Given the description of an element on the screen output the (x, y) to click on. 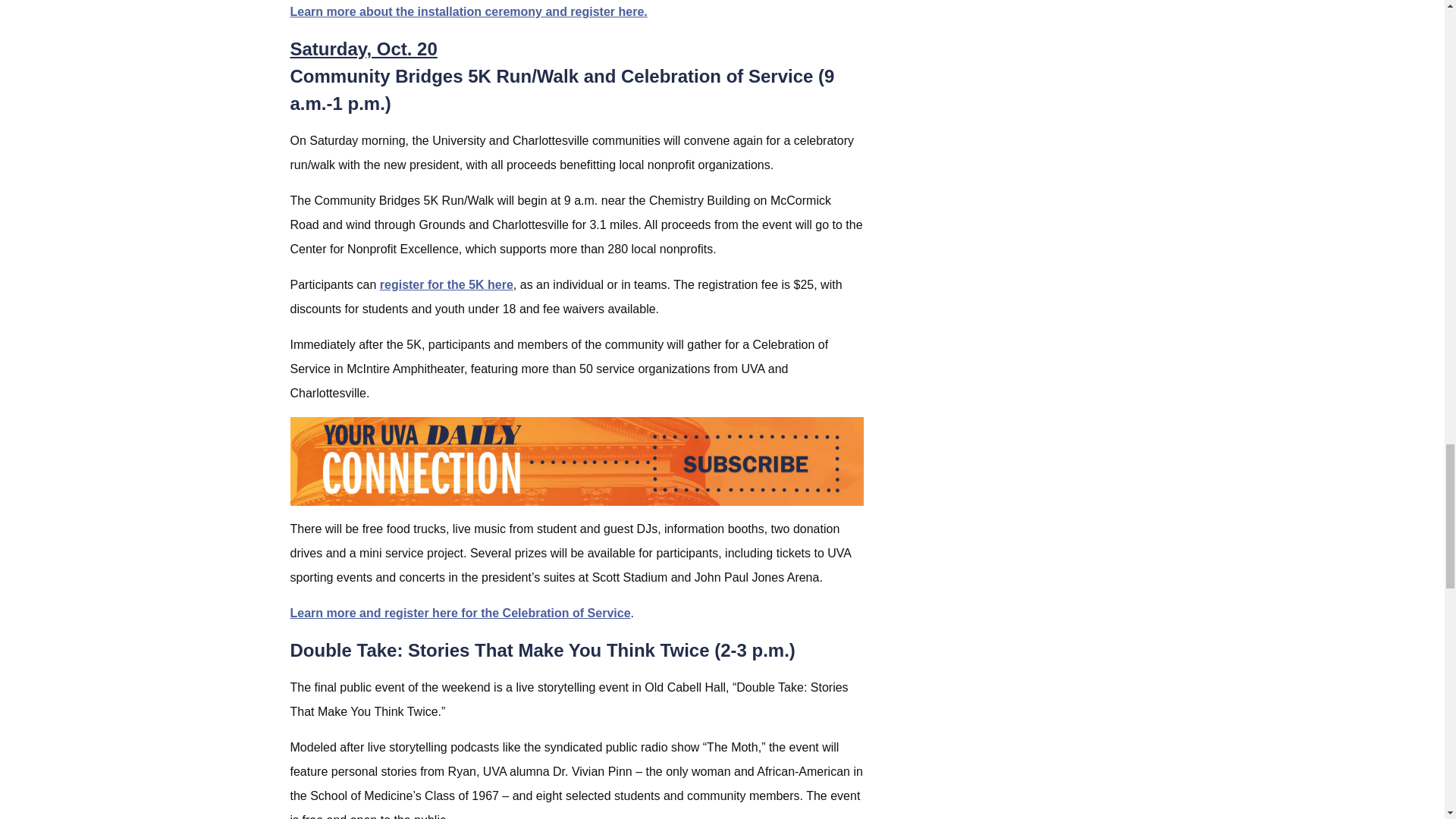
Learn more and register here for the Celebration of Service (459, 612)
register for the 5K here (446, 284)
